Given the description of an element on the screen output the (x, y) to click on. 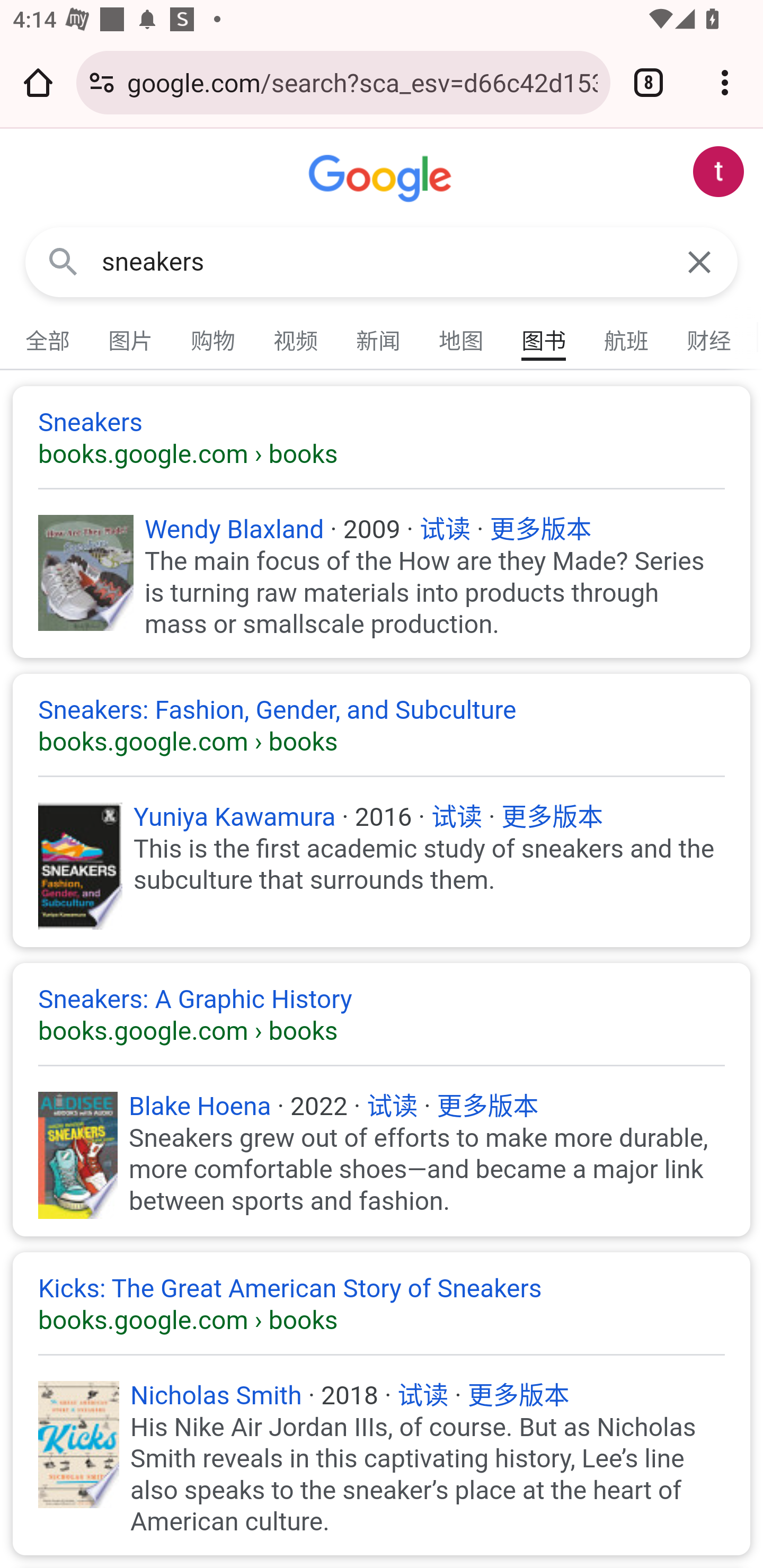
Open the home page (38, 82)
Connection is secure (101, 82)
Switch or close tabs (648, 82)
Customize and control Google Chrome (724, 82)
Google (381, 179)
Google 账号： test appium (testappium002@gmail.com) (718, 171)
Google 搜索 (63, 262)
清除搜索 (699, 262)
sneakers (381, 261)
全部 (48, 336)
图片 (131, 336)
购物 (213, 336)
视频 (296, 336)
新闻 (379, 336)
地图 (461, 336)
航班 (627, 336)
财经 (709, 336)
Sneakers (381, 437)
Wendy Blaxland (234, 528)
试读 (445, 528)
更多版本 (540, 528)
Sneakers: Fashion, Gender, and Subculture (381, 725)
Yuniya Kawamura (235, 816)
试读 (456, 816)
更多版本 (552, 816)
Sneakers: A Graphic History (381, 1014)
Blake Hoena (199, 1105)
试读 (391, 1105)
更多版本 (486, 1105)
Kicks: The Great American Story of Sneakers (381, 1304)
Nicholas Smith (216, 1395)
试读 (423, 1395)
更多版本 (518, 1395)
